Given the description of an element on the screen output the (x, y) to click on. 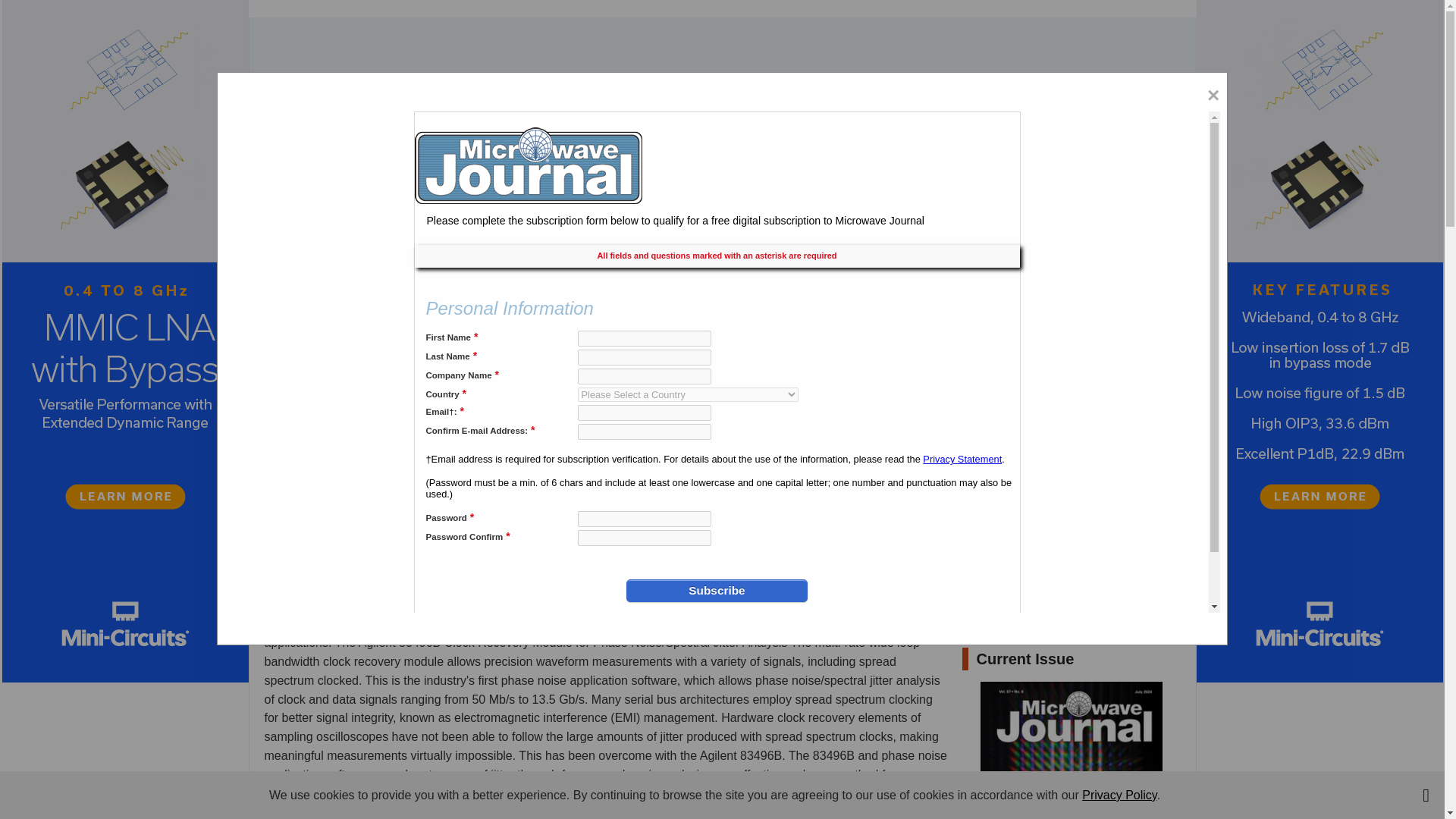
3rd party ad content (721, 66)
3rd party ad content (1075, 534)
